Given the description of an element on the screen output the (x, y) to click on. 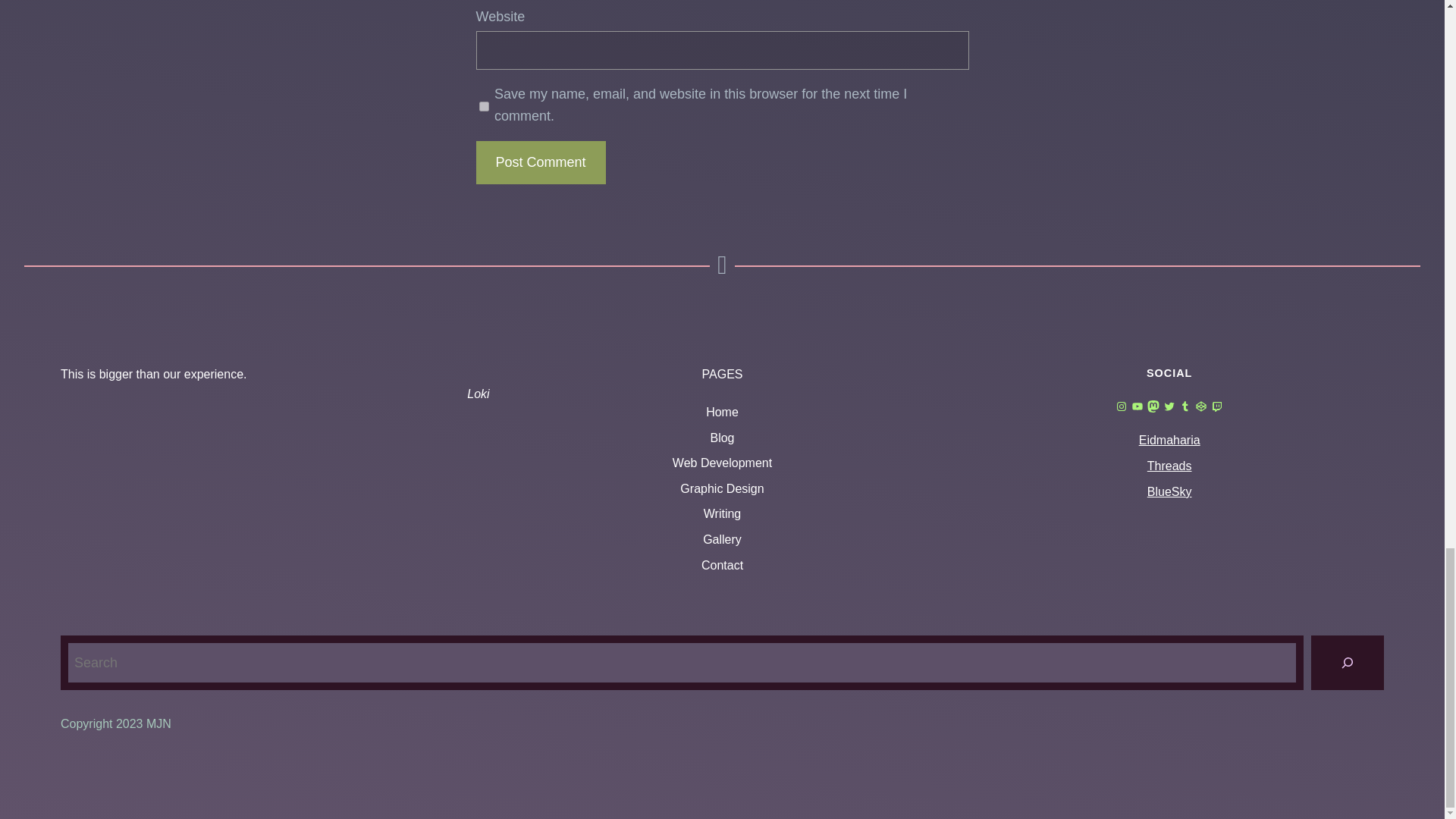
Post Comment (540, 162)
Blog (721, 437)
Home (722, 412)
Post Comment (540, 162)
